Given the description of an element on the screen output the (x, y) to click on. 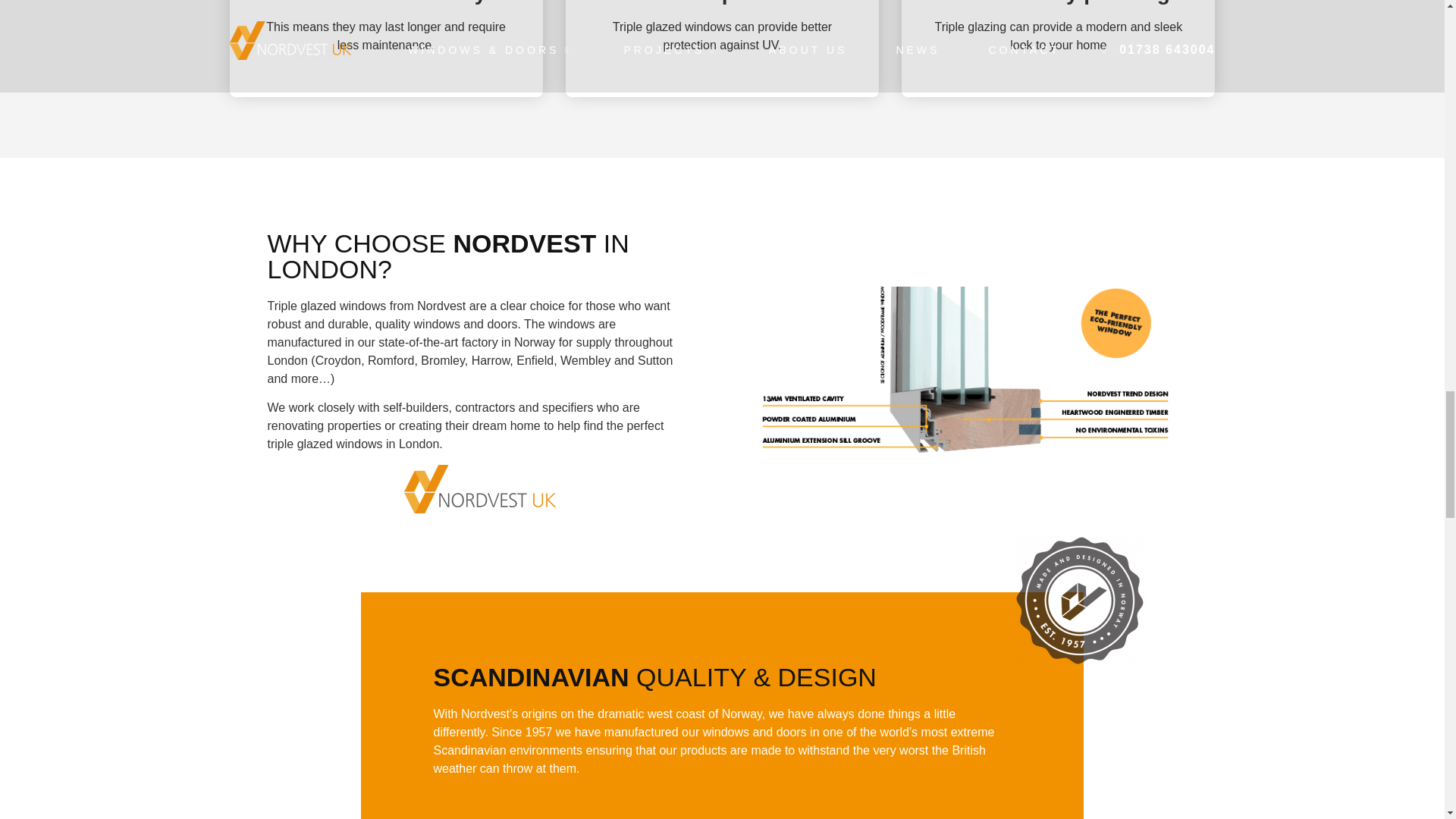
nordvest logo dark (478, 489)
nordvest-certification-6 (1079, 600)
